Given the description of an element on the screen output the (x, y) to click on. 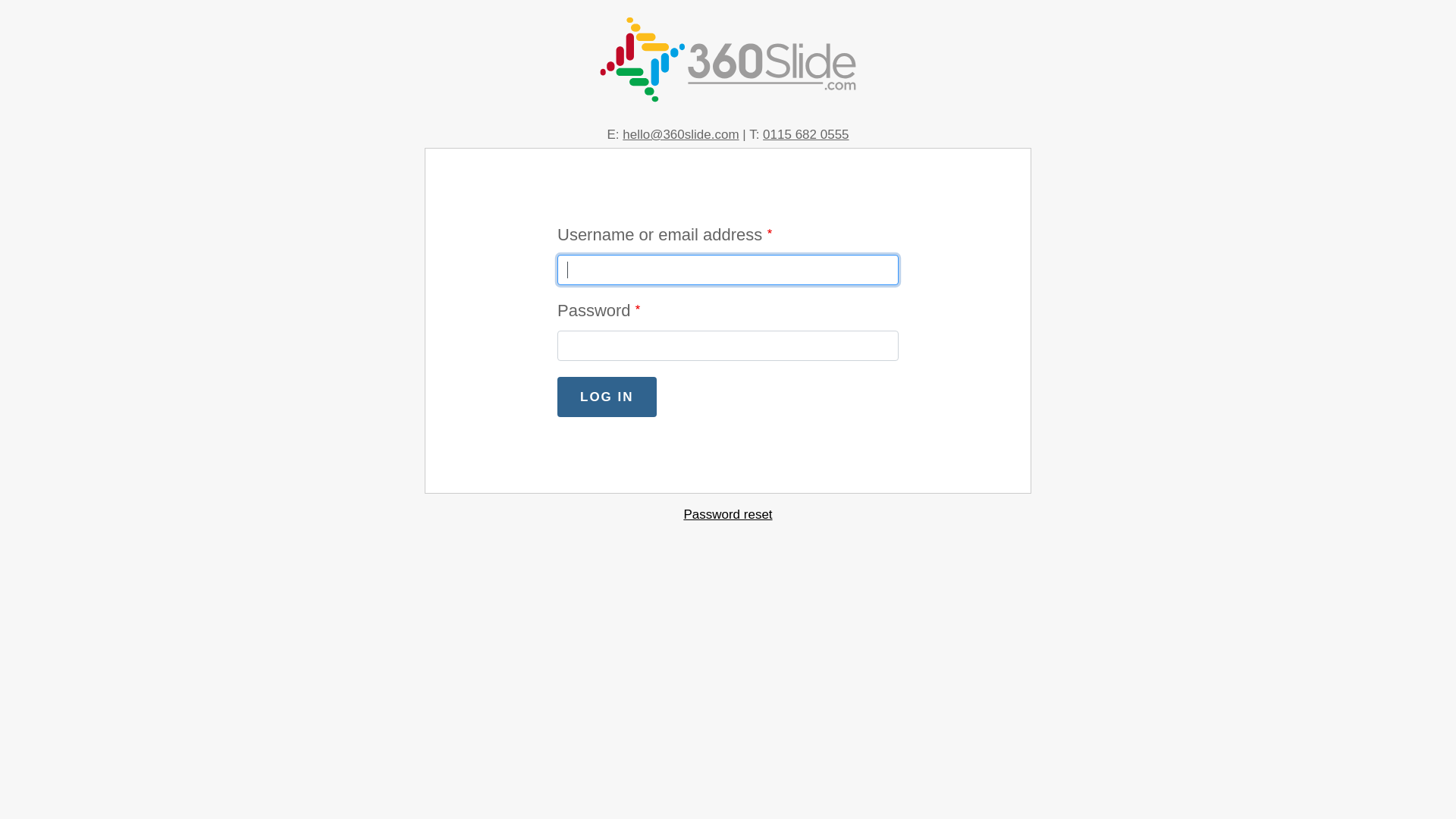
Log in Element type: text (606, 396)
0115 682 0555 Element type: text (805, 134)
hello@360slide.com Element type: text (680, 134)
Password reset Element type: text (727, 514)
Skip to main content Element type: text (0, 409)
